Given the description of an element on the screen output the (x, y) to click on. 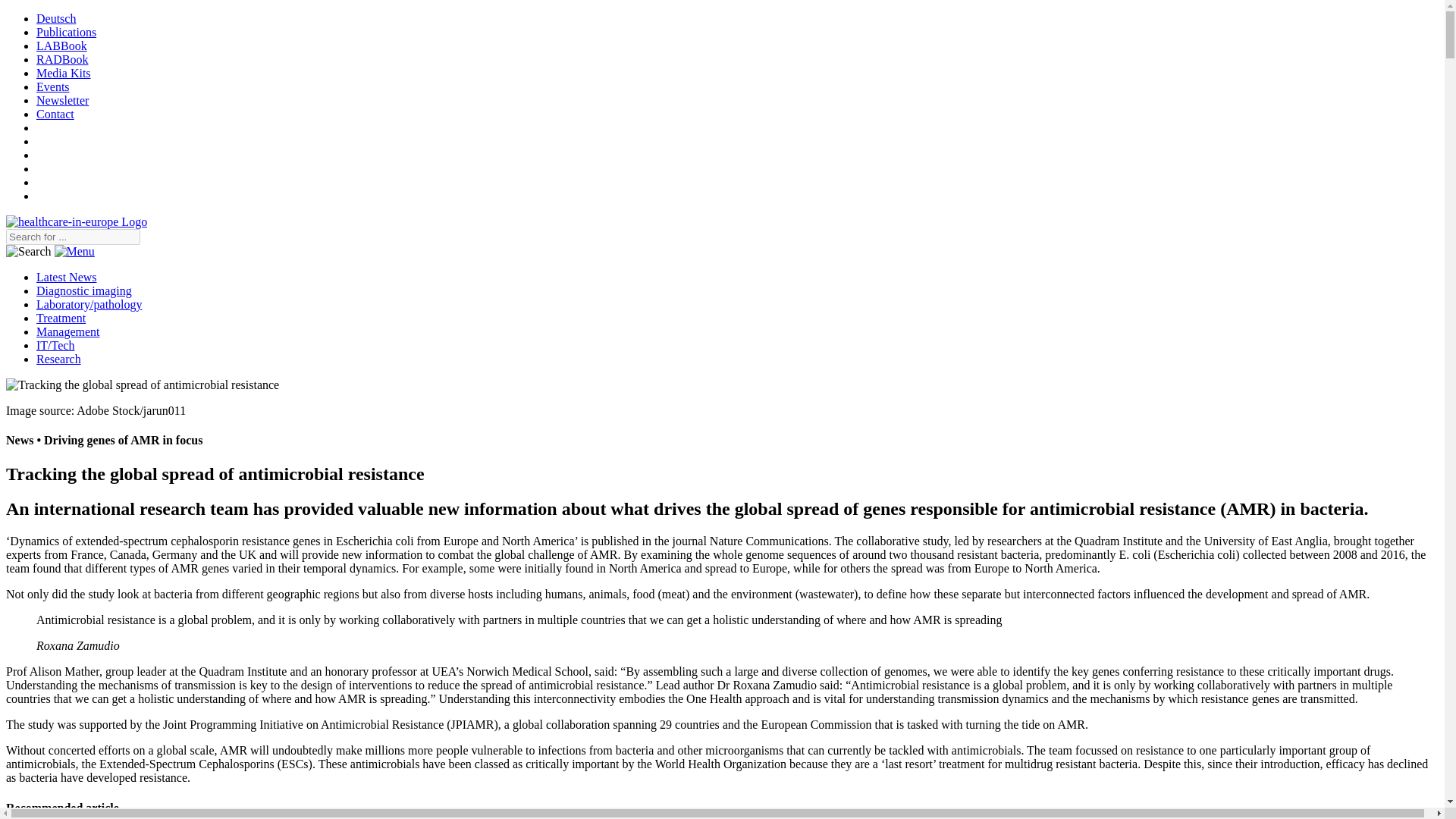
LABBook (61, 45)
Latest News (66, 277)
Publications (66, 31)
Management (68, 331)
Treatment (60, 318)
RADBook (61, 59)
Deutsch (55, 18)
Contact (55, 113)
Research (58, 358)
Media Kits (63, 72)
Diagnostic imaging (84, 290)
Events (52, 86)
Newsletter (62, 100)
